Given the description of an element on the screen output the (x, y) to click on. 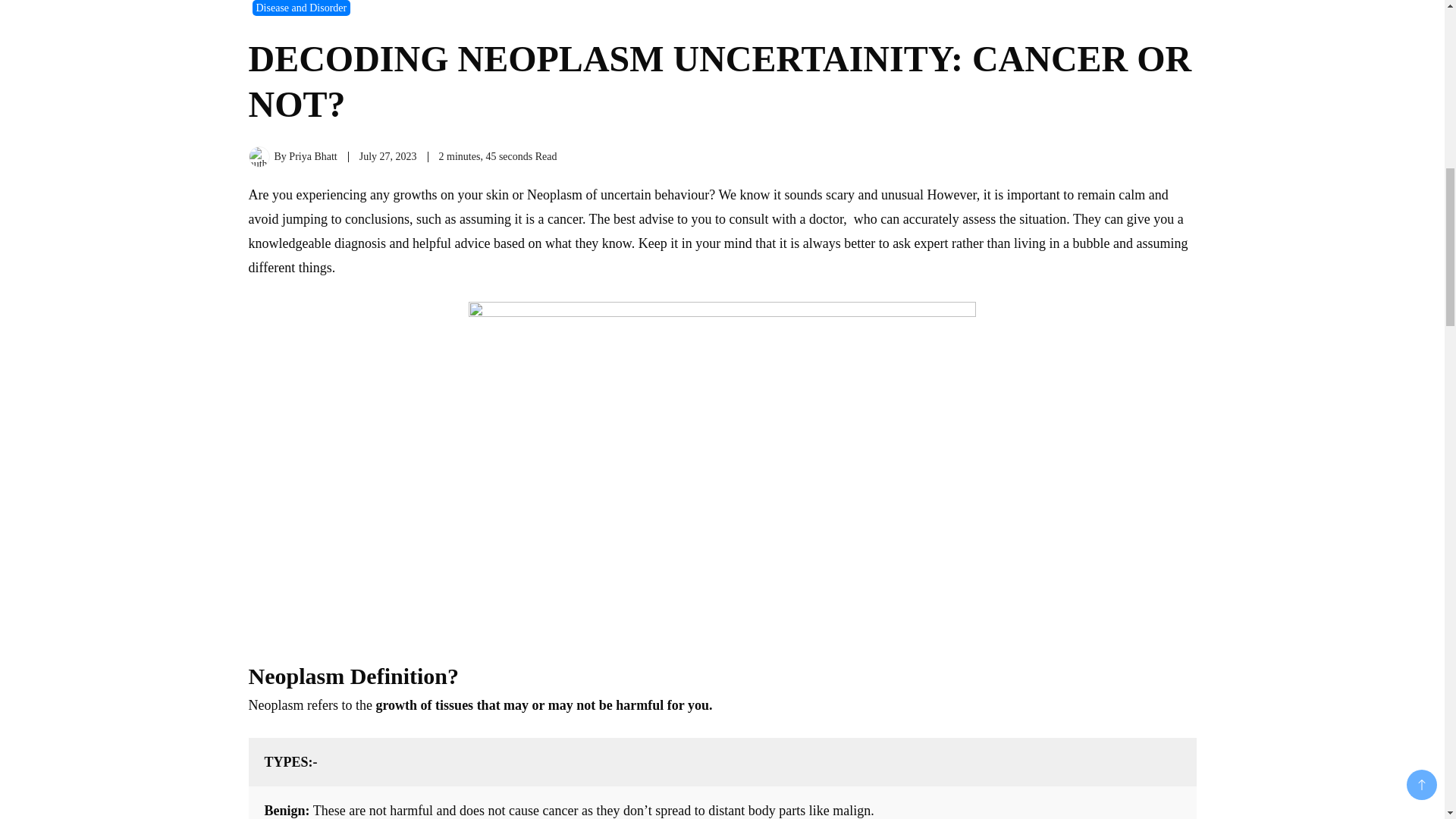
Priya Bhatt (312, 156)
July 27, 2023 (387, 156)
Disease and Disorder (300, 7)
